Given the description of an element on the screen output the (x, y) to click on. 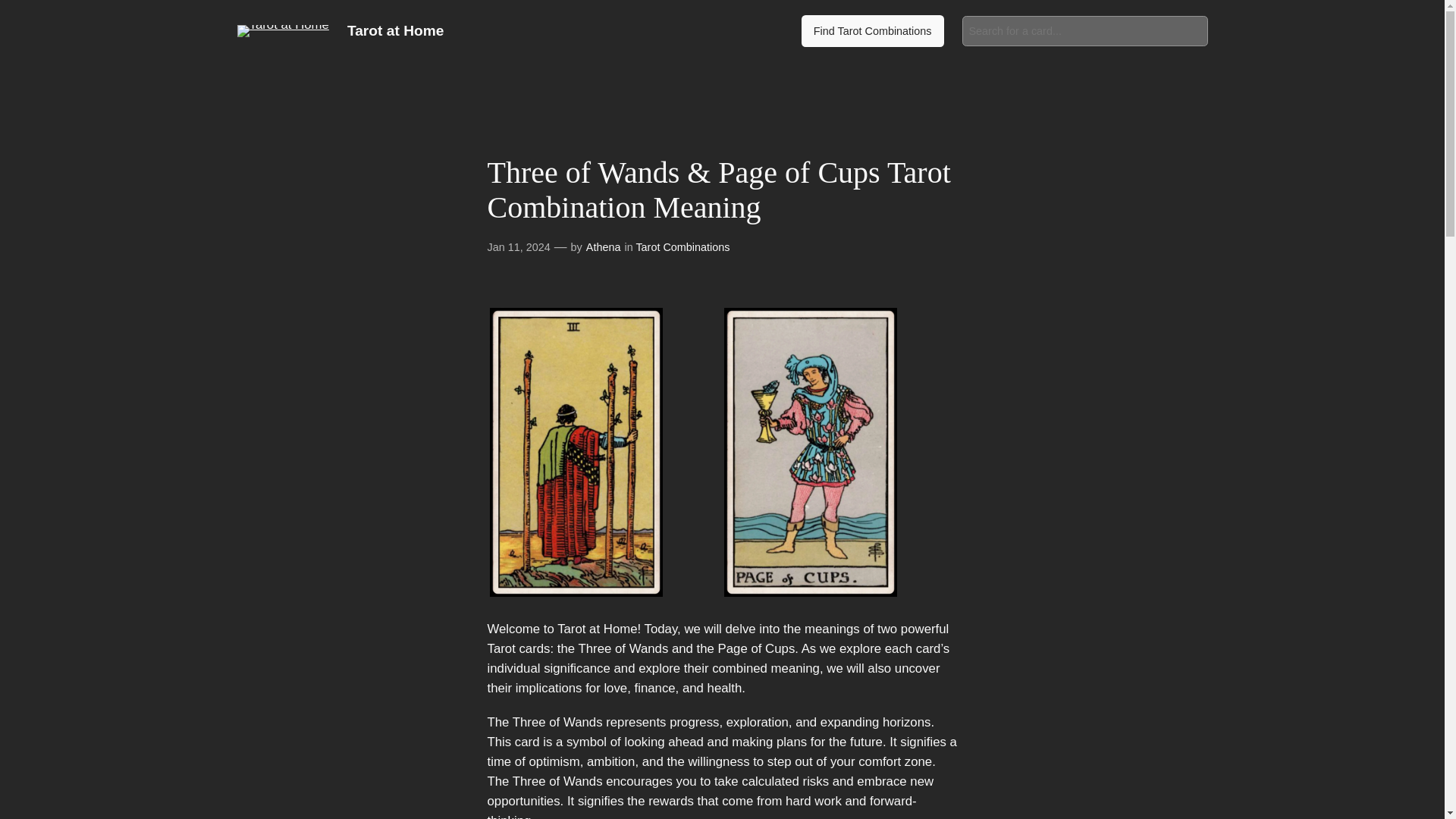
Tarot Combinations (681, 246)
Jan 11, 2024 (518, 246)
Tarot at Home (395, 30)
Find Tarot Combinations (872, 30)
Athena (603, 246)
